Given the description of an element on the screen output the (x, y) to click on. 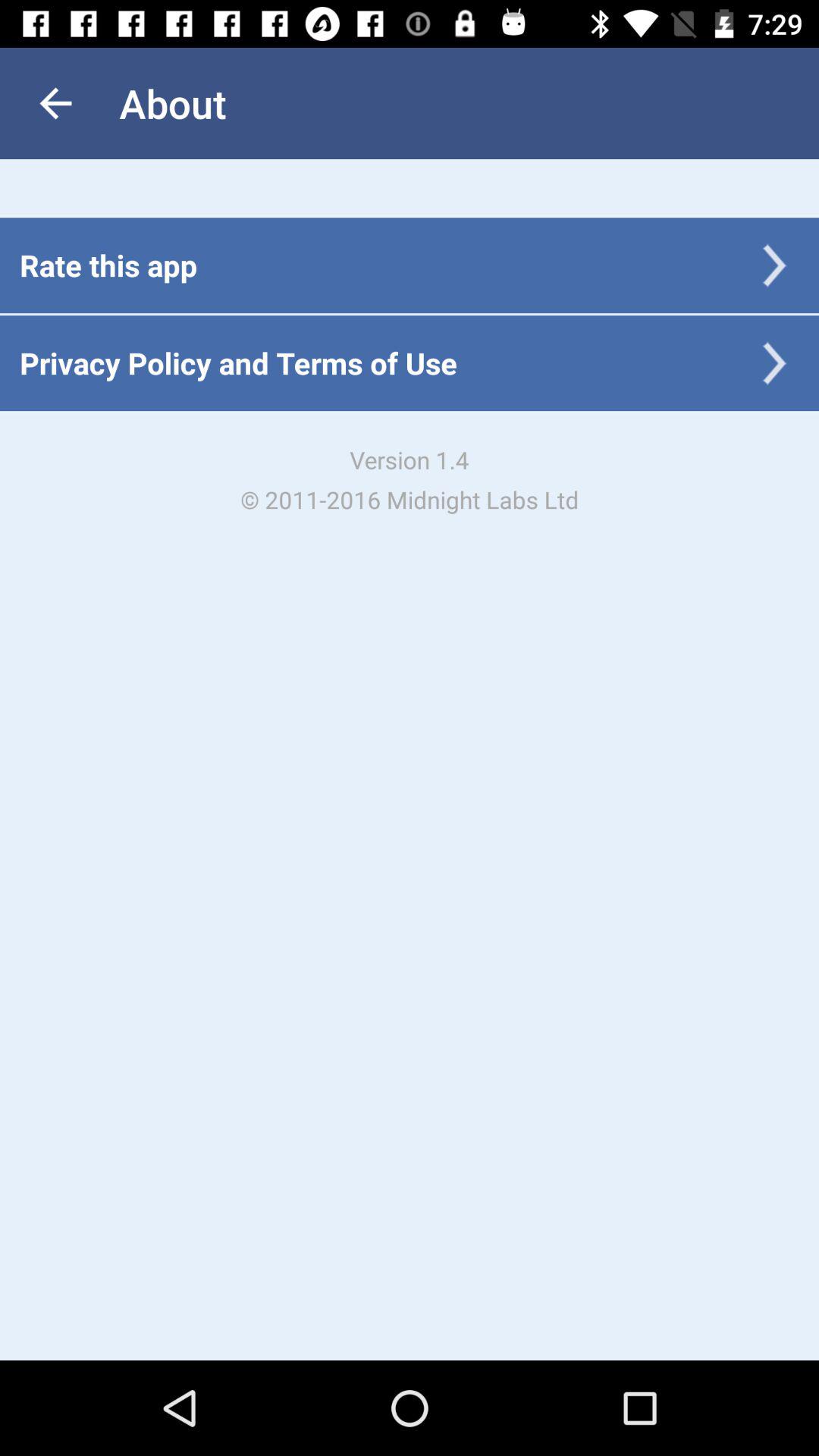
jump until the version 1 4 icon (409, 479)
